Given the description of an element on the screen output the (x, y) to click on. 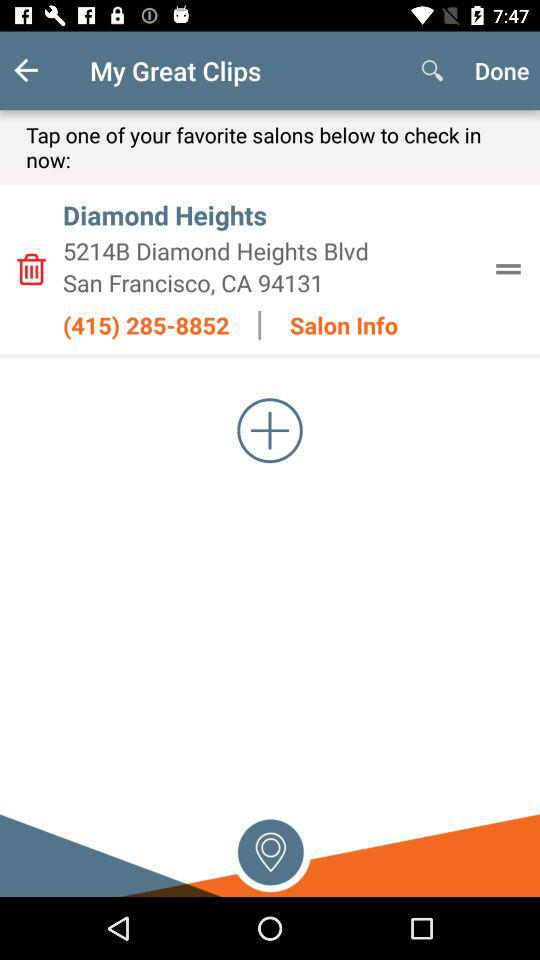
press the app to the right of the my great clips app (432, 70)
